Given the description of an element on the screen output the (x, y) to click on. 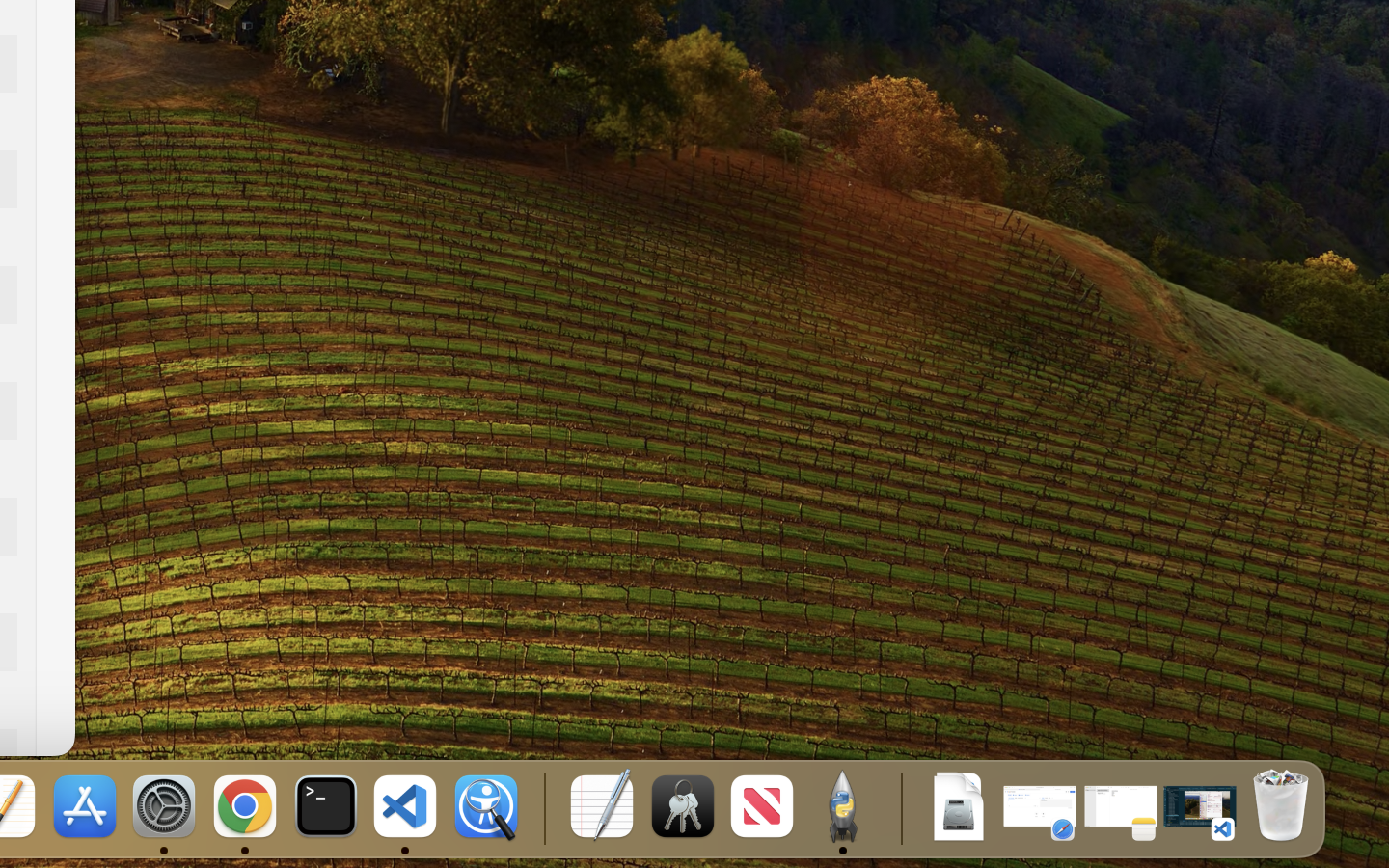
0.4285714328289032 Element type: AXDockItem (541, 807)
